Given the description of an element on the screen output the (x, y) to click on. 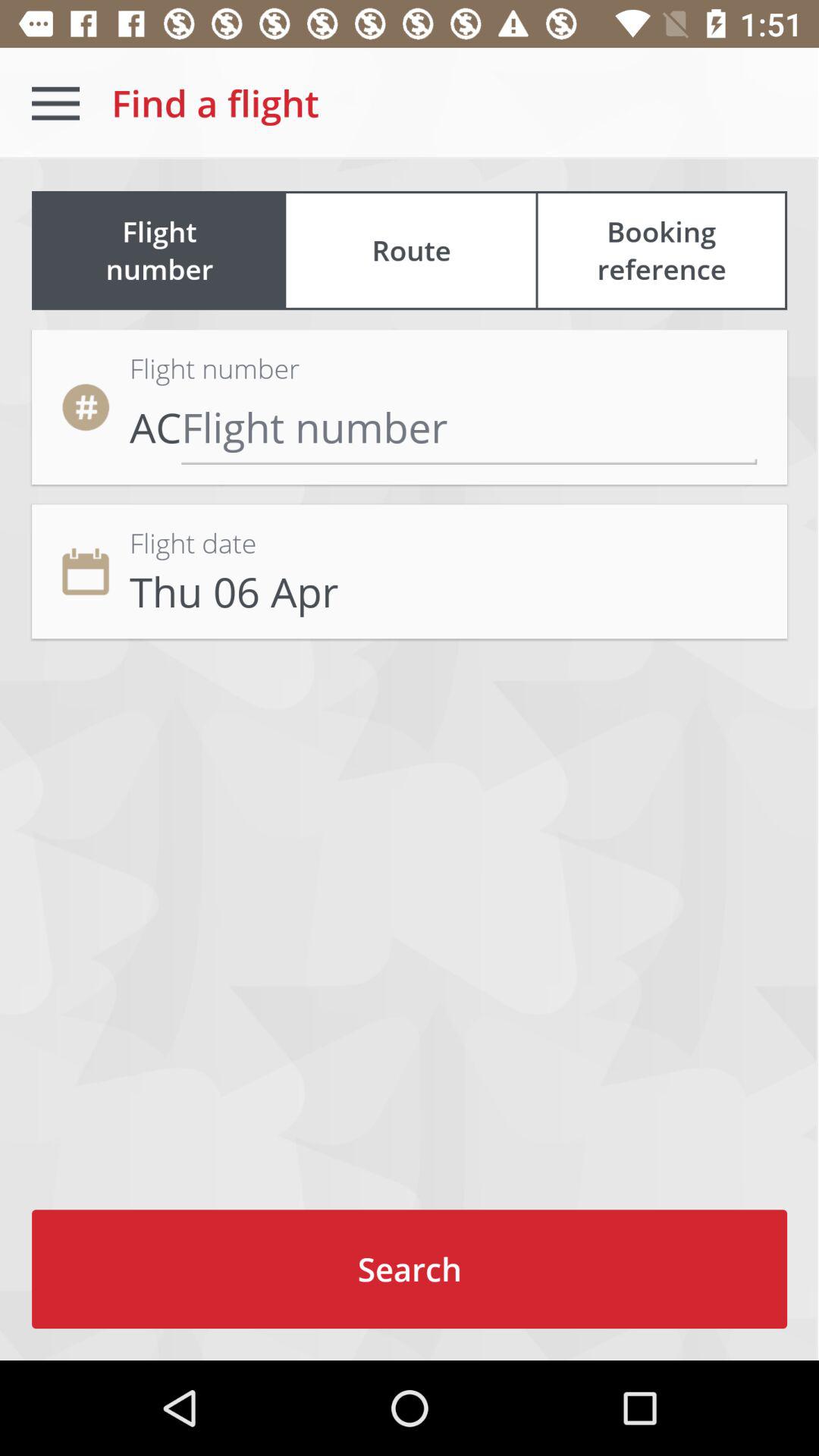
turn on route (411, 250)
